Given the description of an element on the screen output the (x, y) to click on. 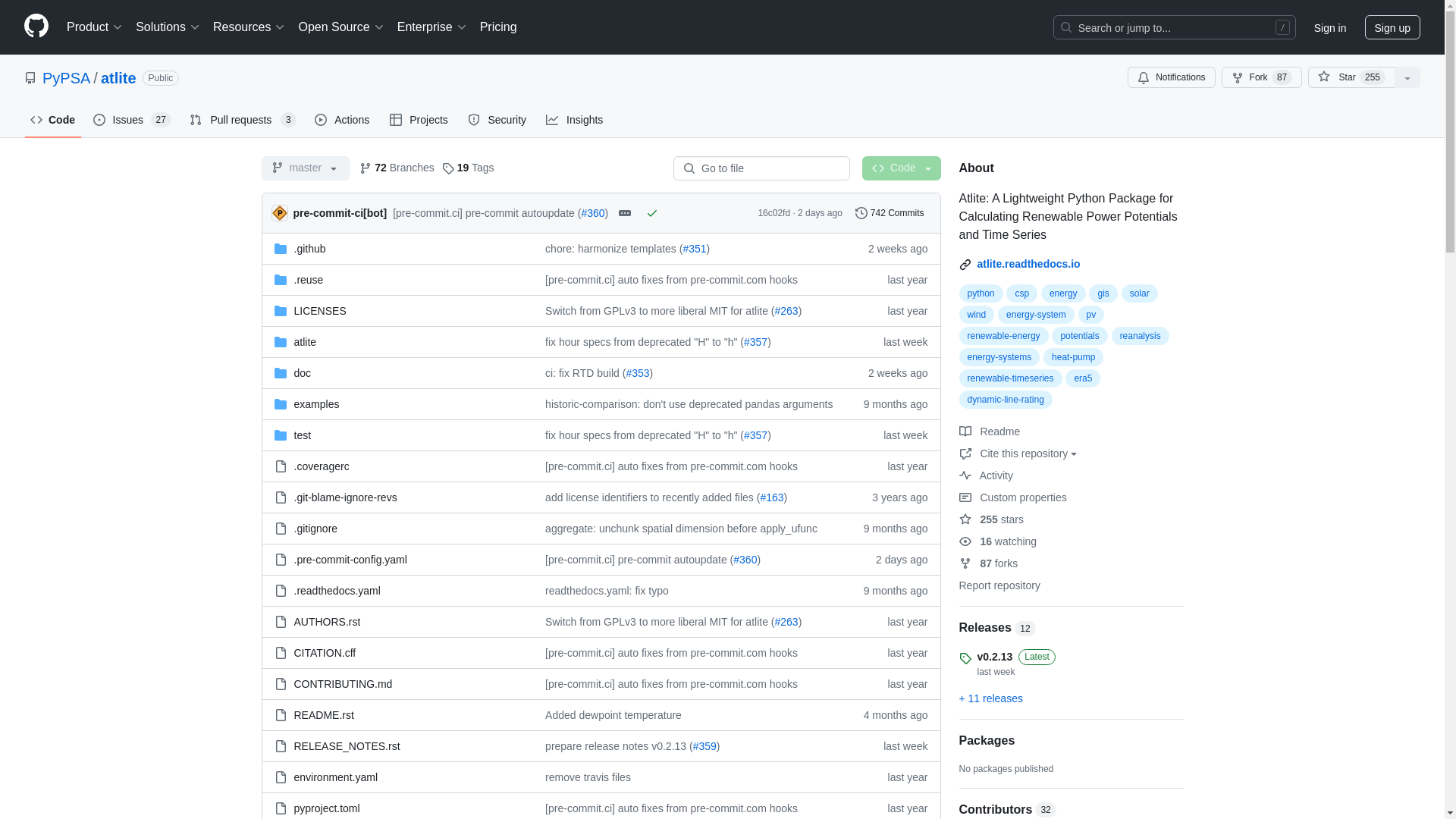
Open Source (341, 27)
87 (1281, 77)
27 (161, 119)
Resources (249, 27)
Product (95, 27)
255 (1372, 77)
Solutions (167, 27)
.github (310, 248)
3 (289, 119)
